Given the description of an element on the screen output the (x, y) to click on. 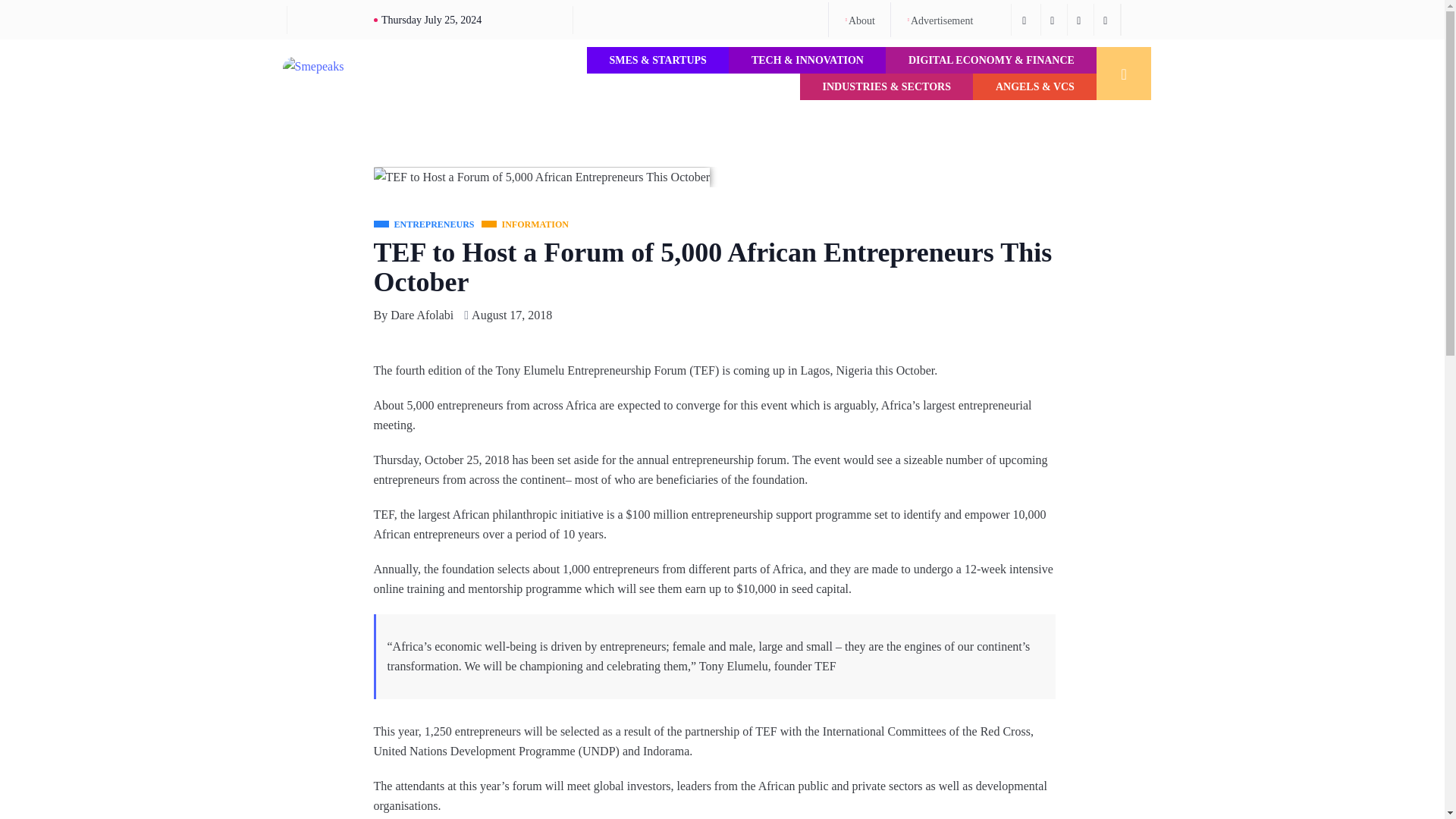
About (859, 20)
INFORMATION (525, 224)
Advertisement (938, 20)
Dare Afolabi (421, 315)
ENTREPRENEURS (423, 224)
